Given the description of an element on the screen output the (x, y) to click on. 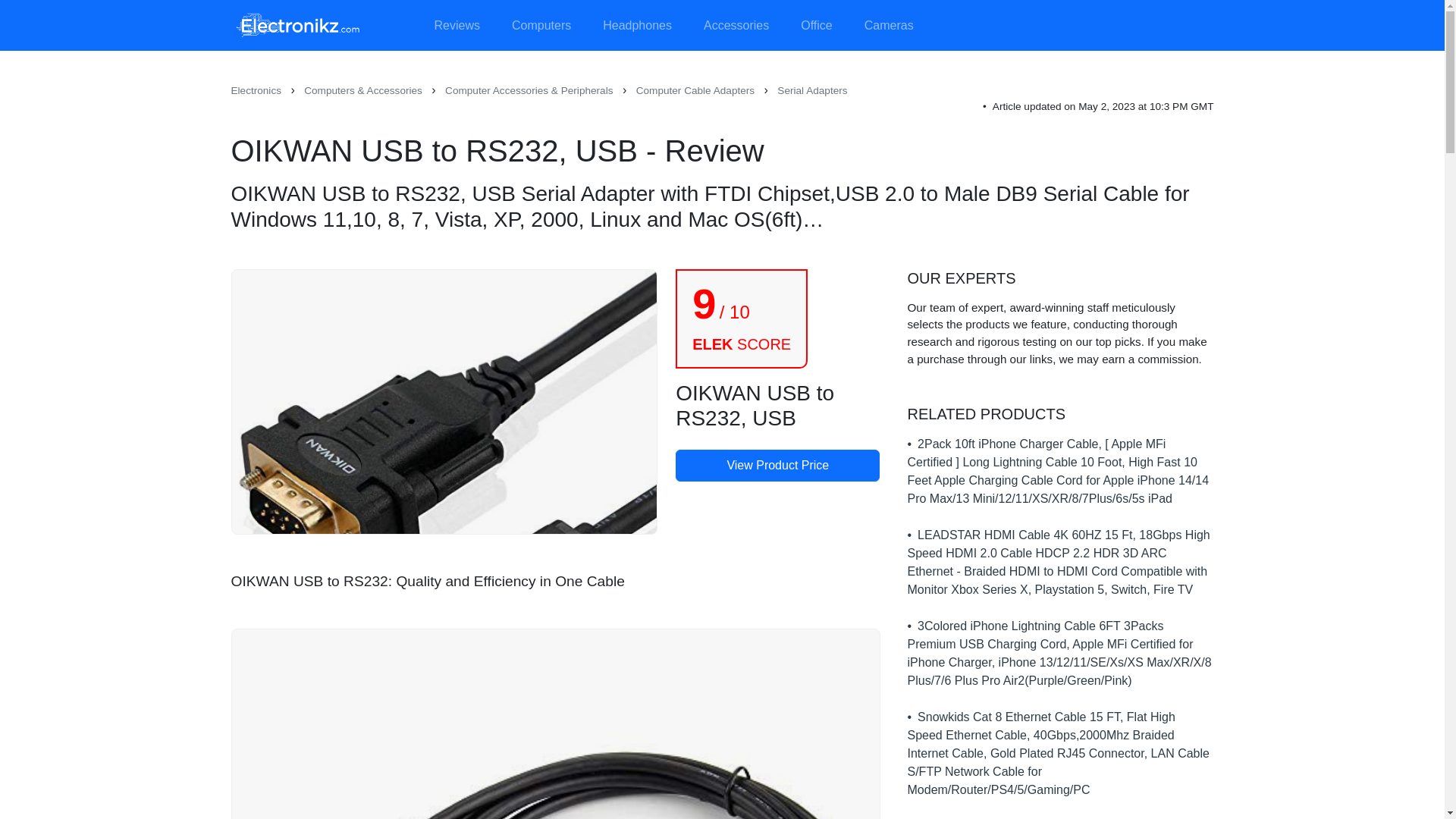
Computer Cable Adapters (695, 90)
Cameras (888, 25)
Accessories (735, 25)
Electronics (255, 90)
Headphones (637, 25)
Serial Adapters (812, 90)
Computers (541, 25)
View Product Price (777, 465)
Reviews (457, 25)
Office (816, 25)
